Given the description of an element on the screen output the (x, y) to click on. 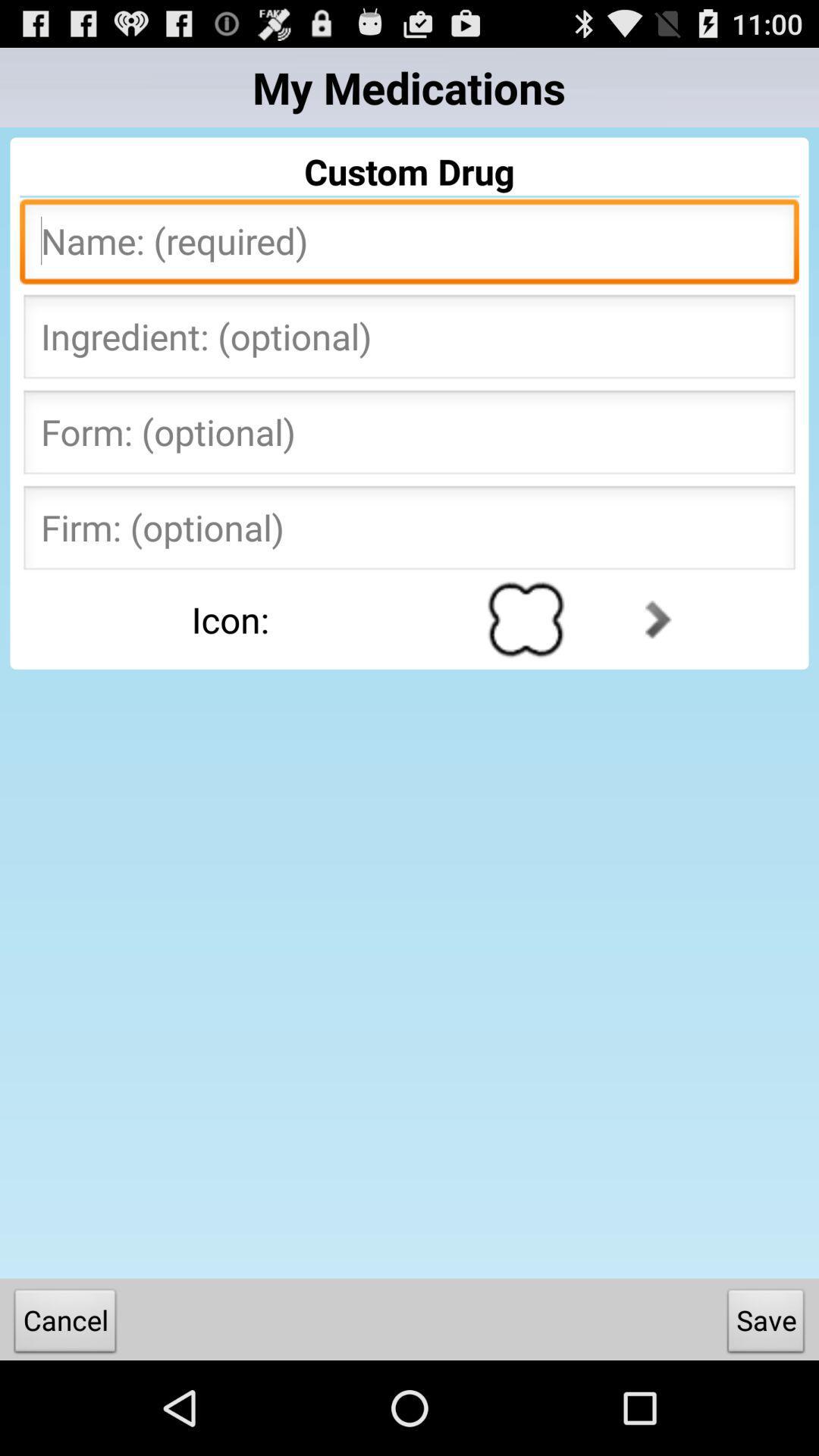
open button to the right of the cancel item (765, 1324)
